Given the description of an element on the screen output the (x, y) to click on. 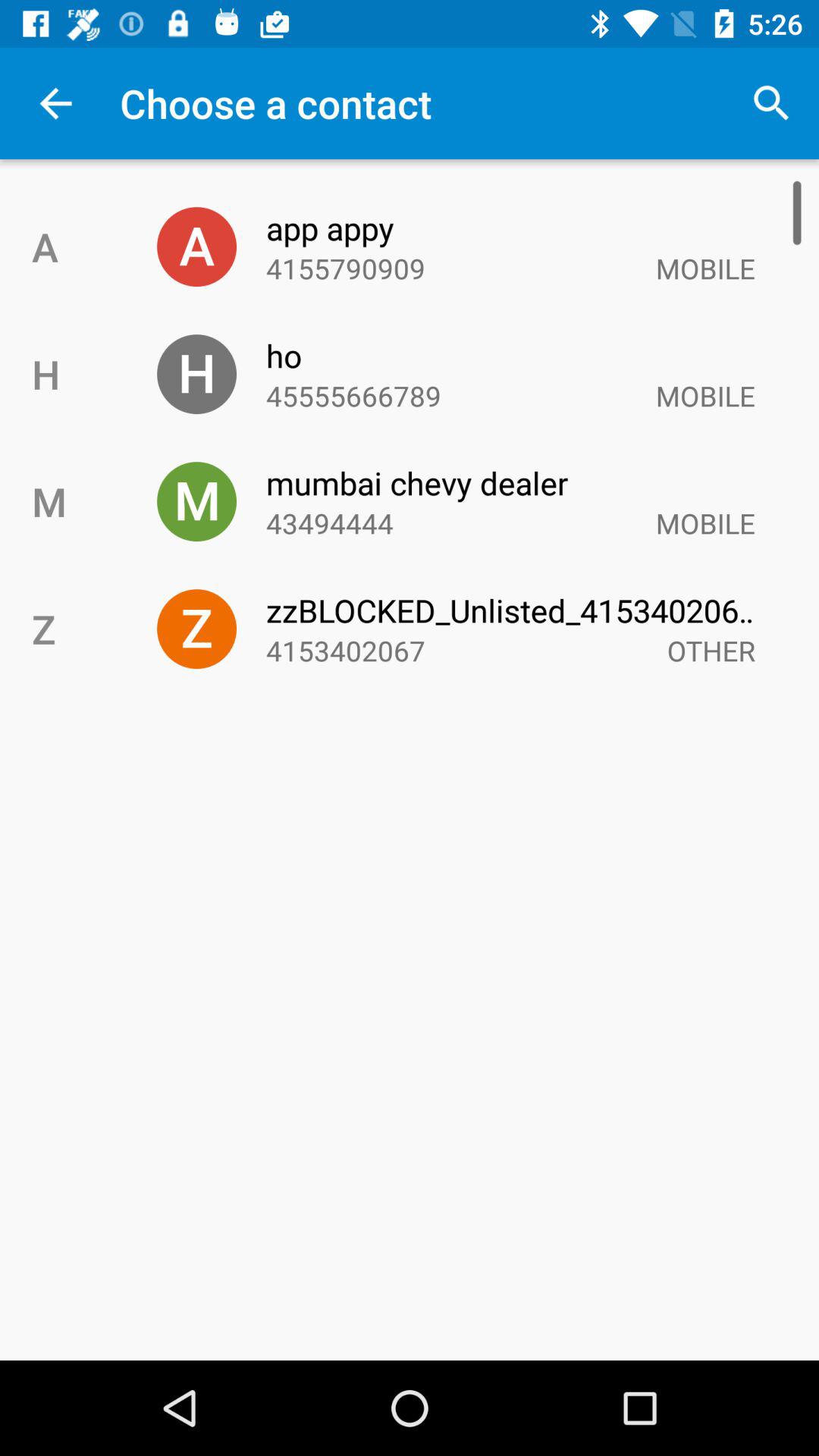
launch the icon next to choose a contact icon (771, 103)
